Given the description of an element on the screen output the (x, y) to click on. 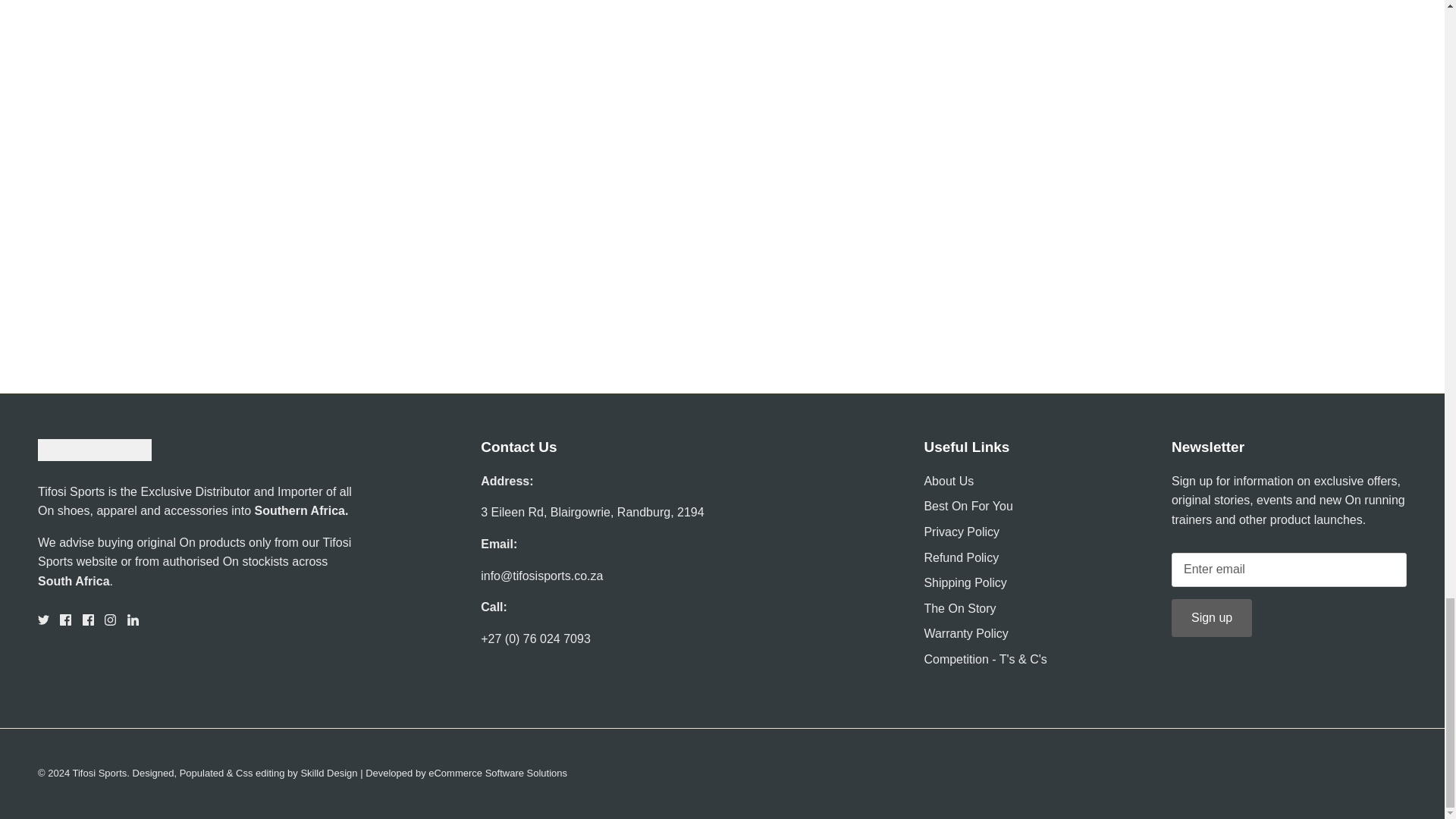
Facebook (65, 619)
Twitter (43, 619)
Facebook (88, 619)
Instagram (110, 619)
